Given the description of an element on the screen output the (x, y) to click on. 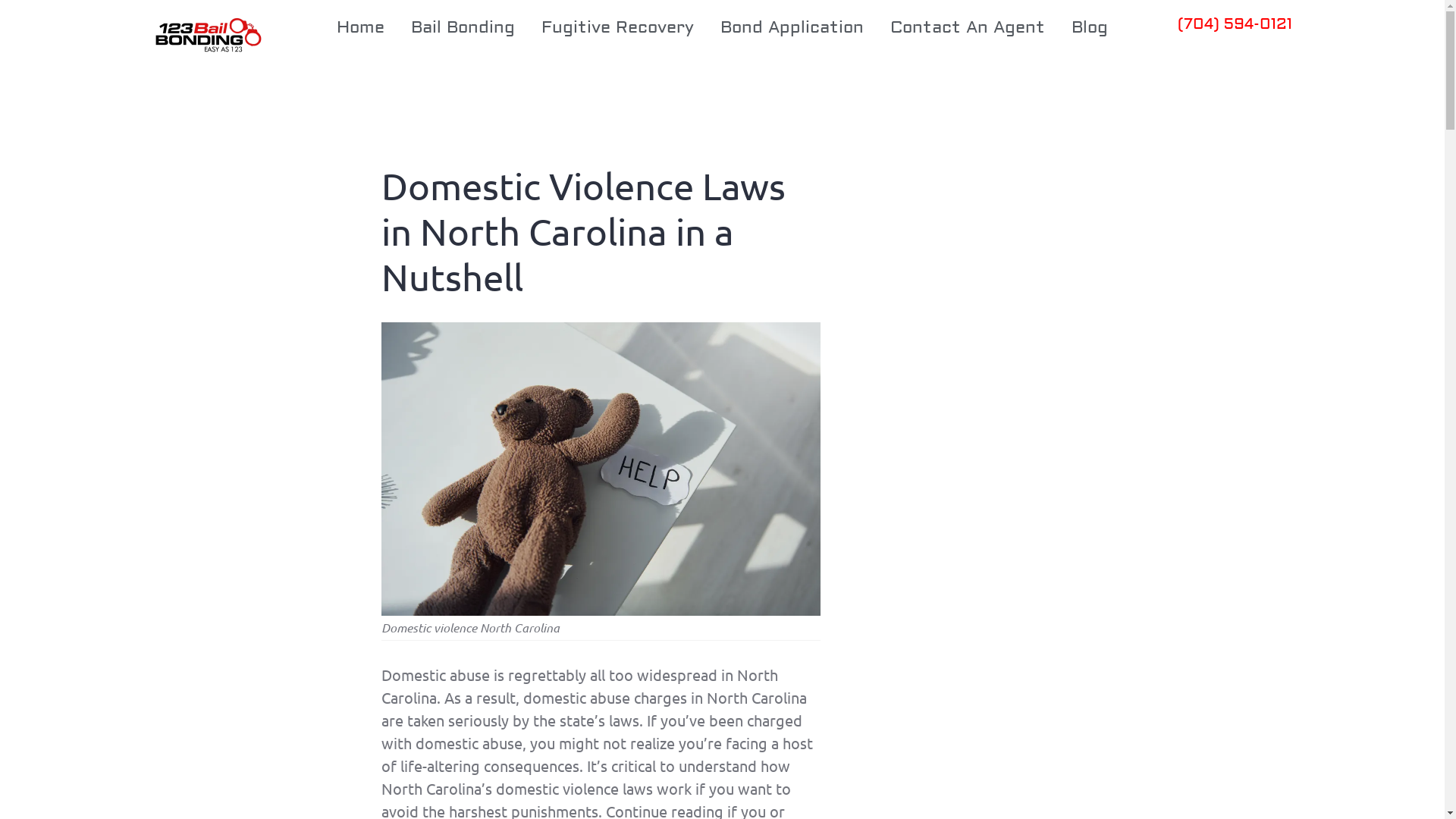
Bond Application Element type: text (791, 27)
Fugitive Recovery Element type: text (617, 27)
123 Bail Bonding Element type: hover (204, 35)
Home Element type: text (360, 27)
Bail Bonding Element type: text (462, 27)
Blog Element type: text (1089, 27)
Contact An Agent Element type: text (967, 27)
(704) 594-0121 Element type: text (1234, 23)
